Given the description of an element on the screen output the (x, y) to click on. 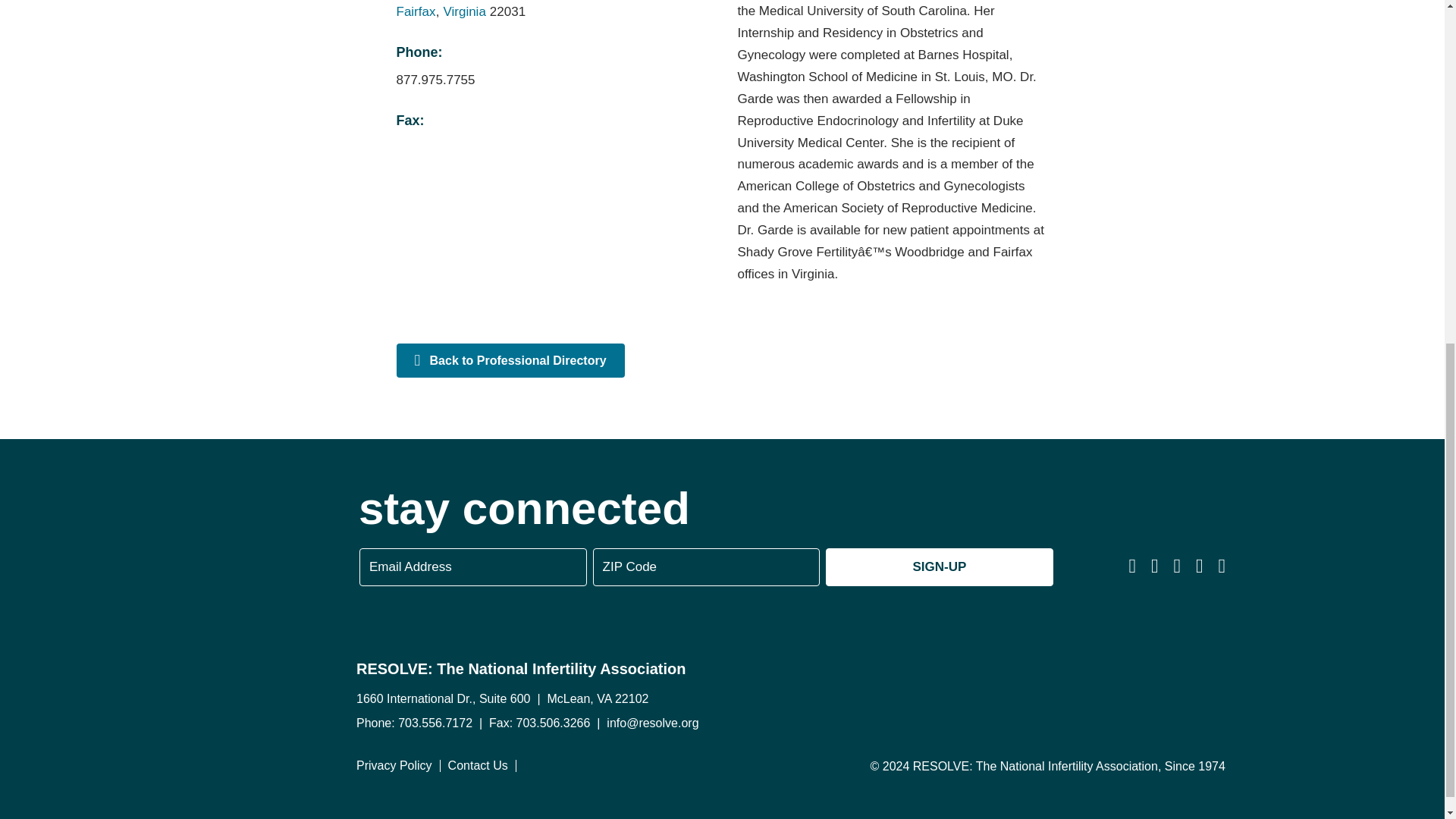
SIGN-UP (938, 566)
Icon Large (166, 560)
7235119 (908, 688)
NHC SOE Cmyk (1102, 689)
